Given the description of an element on the screen output the (x, y) to click on. 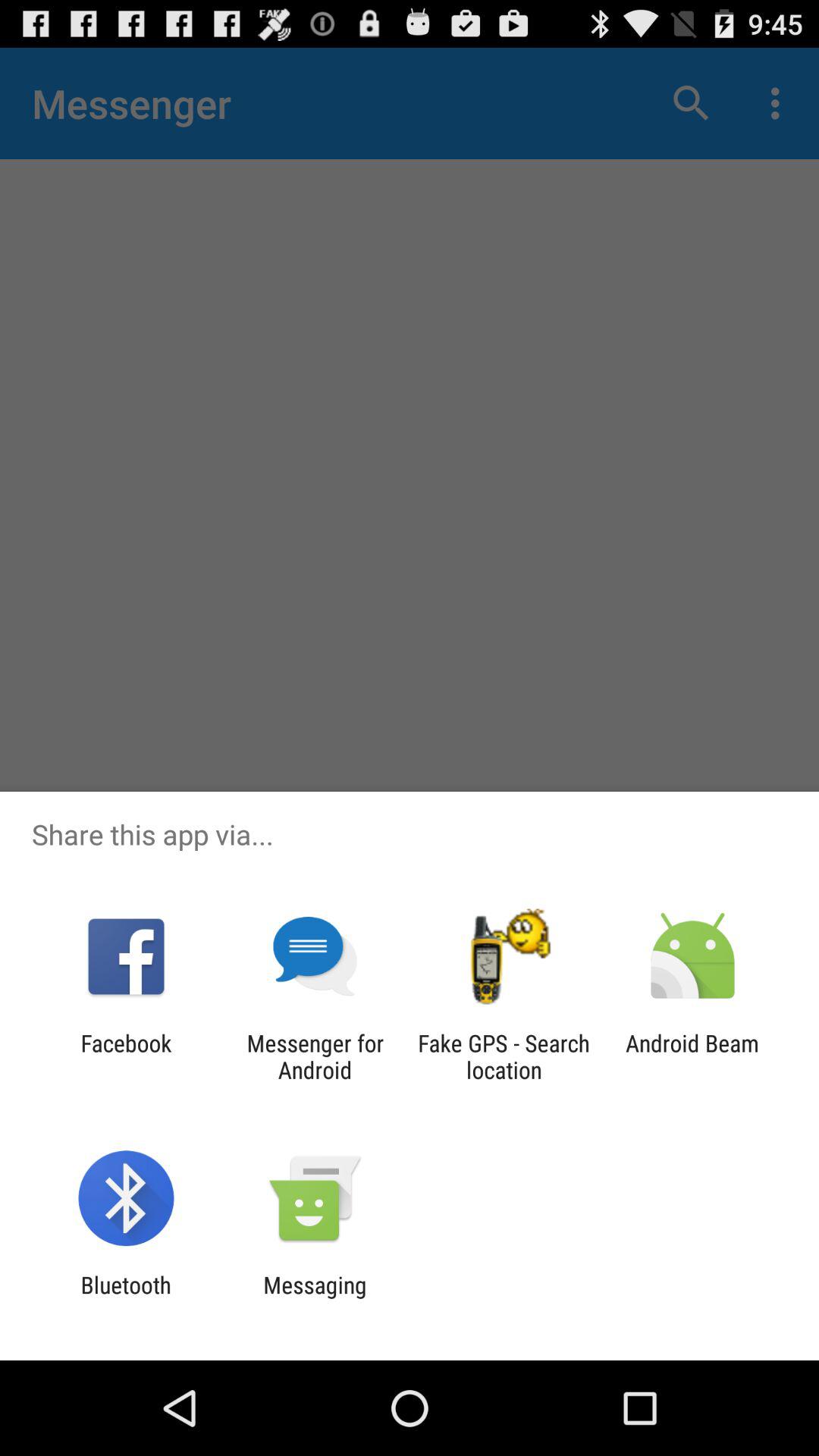
turn off the item to the left of messenger for android (125, 1056)
